Given the description of an element on the screen output the (x, y) to click on. 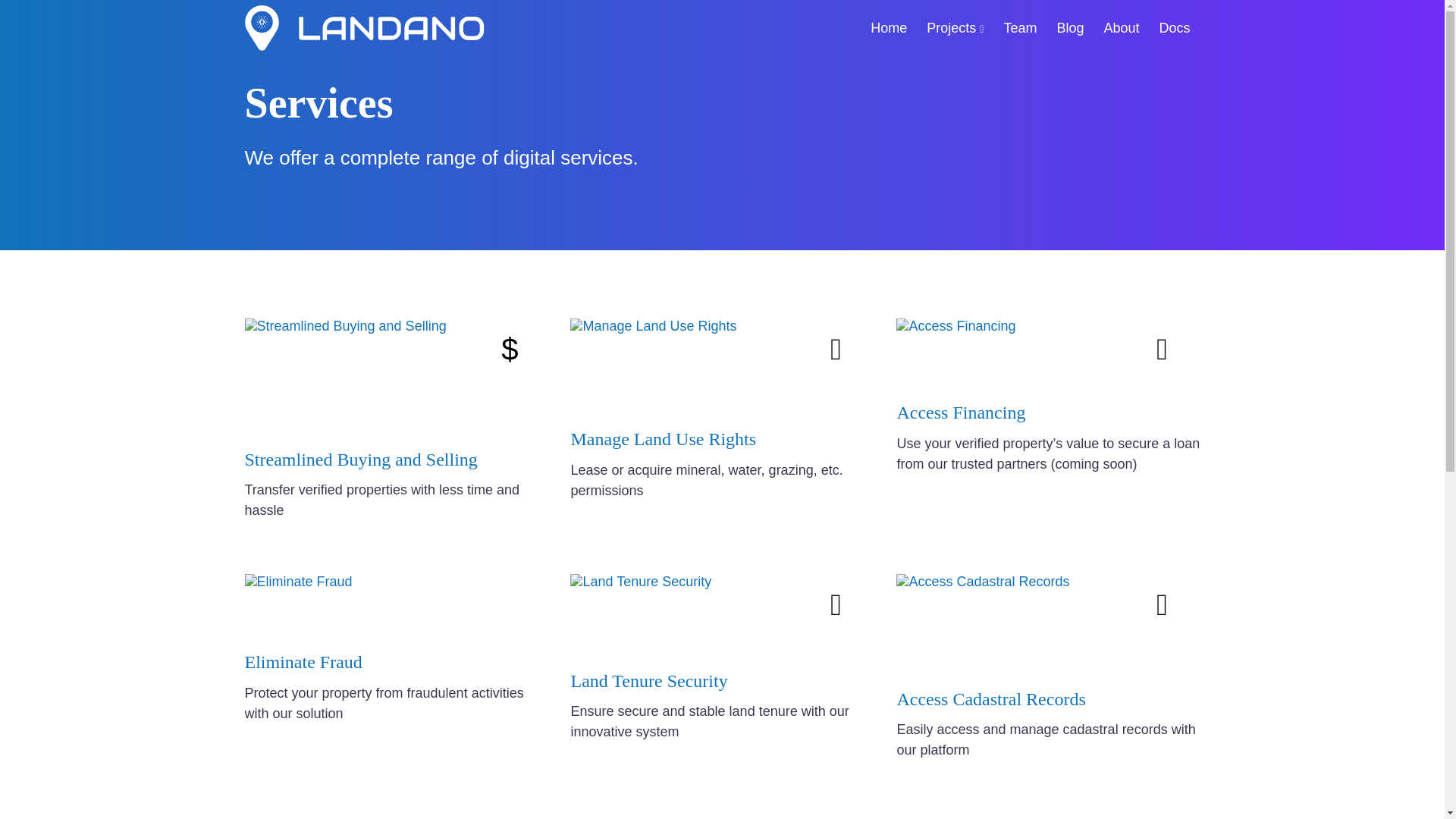
Team (1019, 27)
Manage Land Use Rights (662, 438)
Blog (1069, 27)
Access Cadastral Records (990, 699)
Access Financing (960, 412)
Land Tenure Security (648, 680)
Home (888, 27)
Eliminate Fraud (302, 661)
Docs (1173, 27)
Streamlined Buying and Selling (360, 459)
Projects (954, 27)
About (1120, 27)
